Given the description of an element on the screen output the (x, y) to click on. 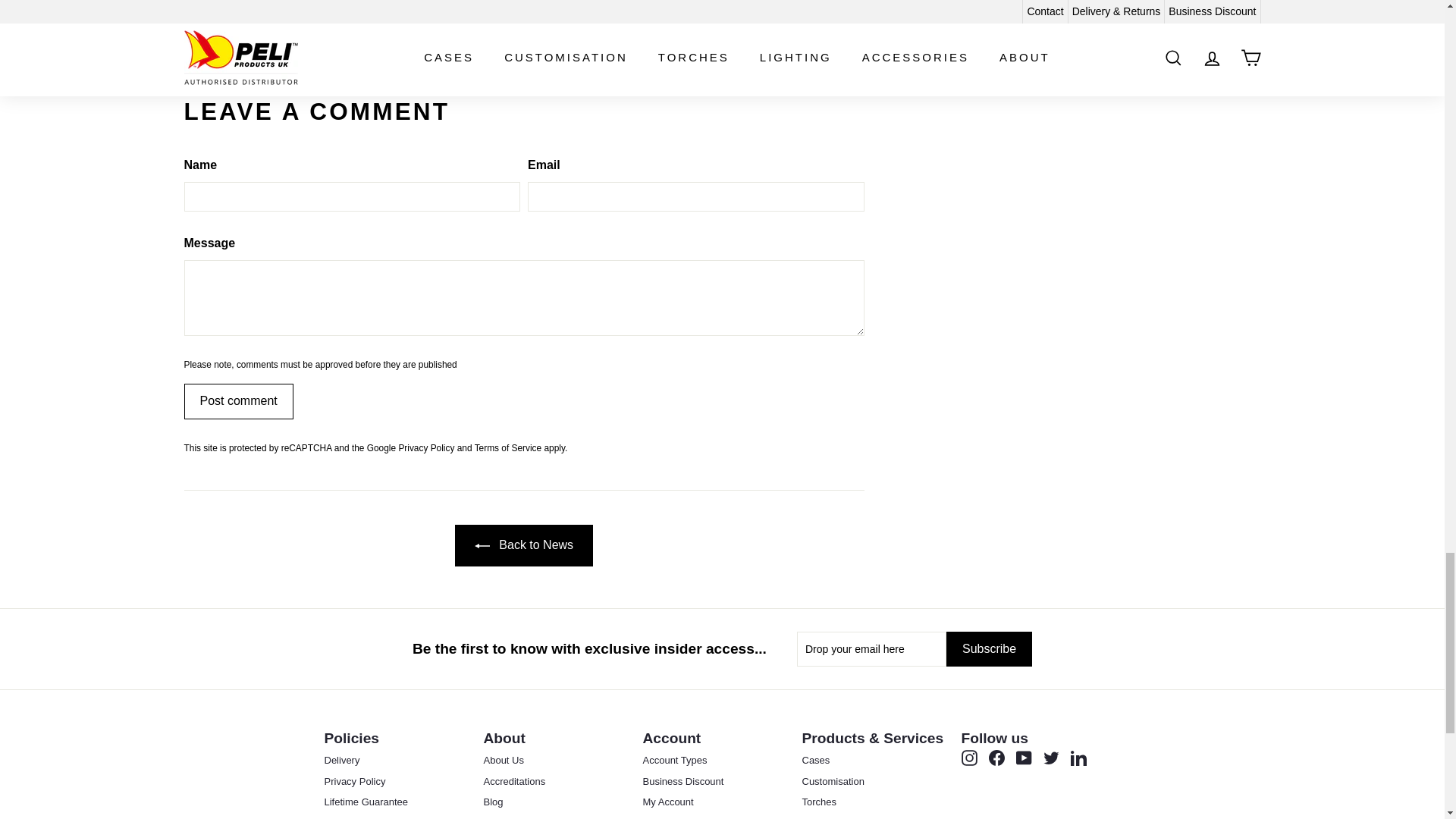
Peli UK on LinkedIn (1078, 757)
Peli UK on Instagram (968, 757)
Peli UK on YouTube (1024, 757)
Peli UK on Facebook (996, 757)
Peli UK on Twitter (1051, 757)
